Given the description of an element on the screen output the (x, y) to click on. 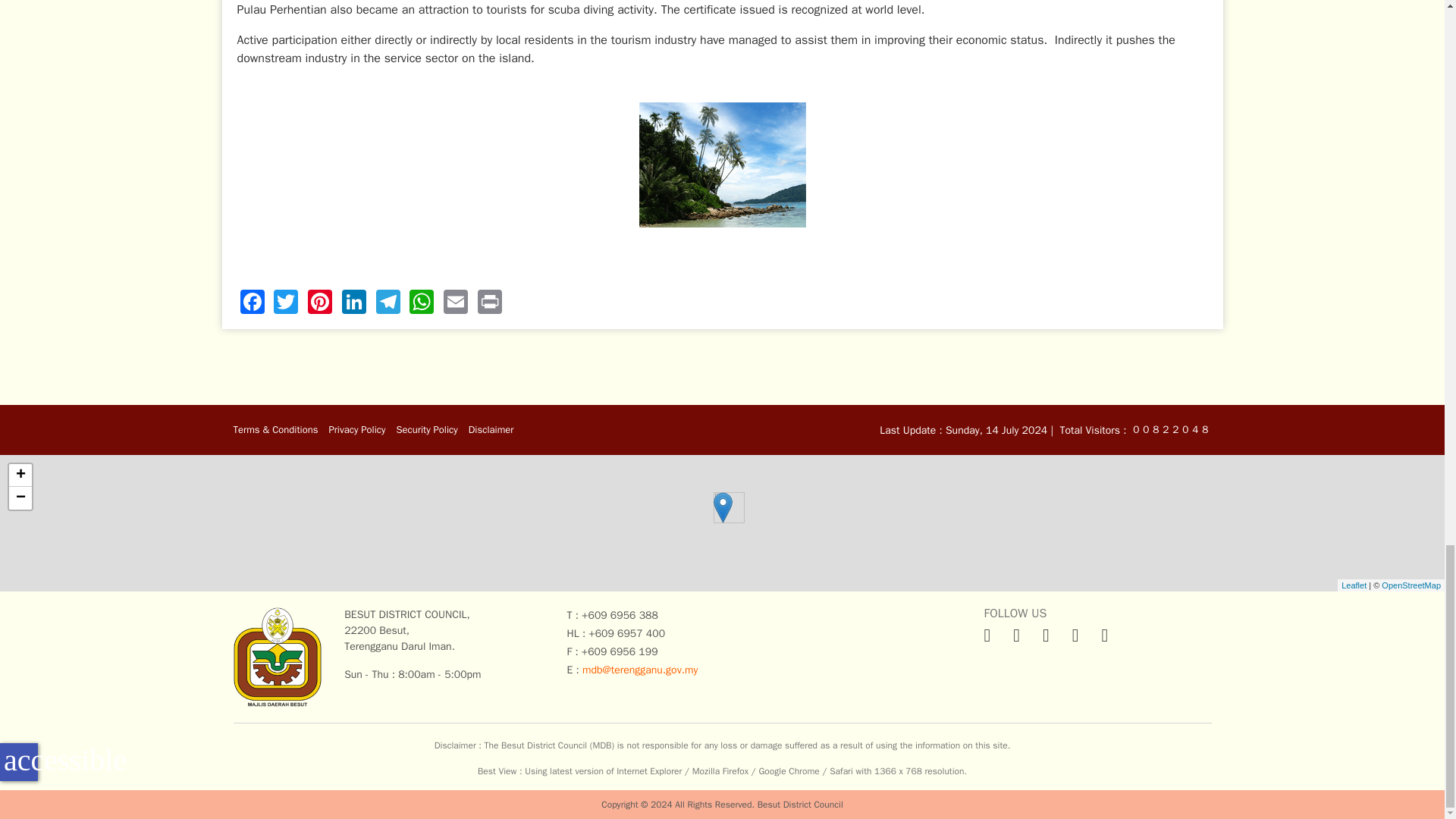
822,048 Visits (1203, 428)
822,048 Visits (1163, 428)
822,048 Visits (1134, 428)
Zoom out (20, 497)
Icon group item (1016, 635)
822,048 Visits (1174, 428)
822,048 Visits (1193, 428)
822,048 Visits (1154, 428)
Zoom in (20, 475)
A JS library for interactive maps (1353, 584)
822,048 Visits (1182, 428)
Icon group item (1074, 635)
822,048 Visits (1143, 428)
Icon group item (987, 635)
Icon group item (1045, 635)
